Given the description of an element on the screen output the (x, y) to click on. 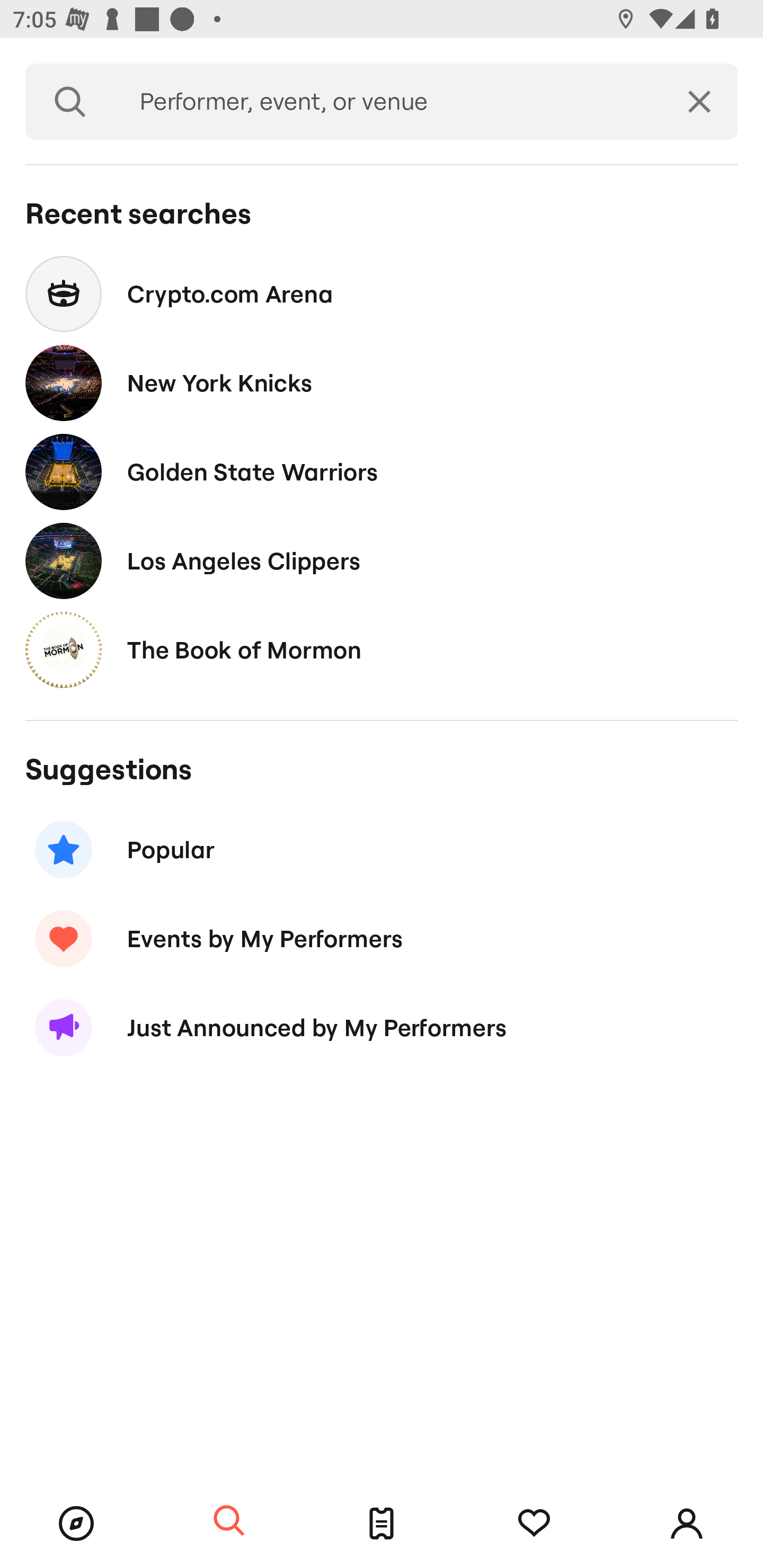
Search (69, 101)
Performer, event, or venue (387, 101)
Clear (699, 101)
Crypto.com Arena (381, 293)
New York Knicks (381, 383)
Golden State Warriors (381, 471)
Los Angeles Clippers (381, 560)
The Book of Mormon (381, 649)
Popular (381, 849)
Events by My Performers (381, 938)
Just Announced by My Performers (381, 1027)
Browse (76, 1523)
Search (228, 1521)
Tickets (381, 1523)
Tracking (533, 1523)
Account (686, 1523)
